Given the description of an element on the screen output the (x, y) to click on. 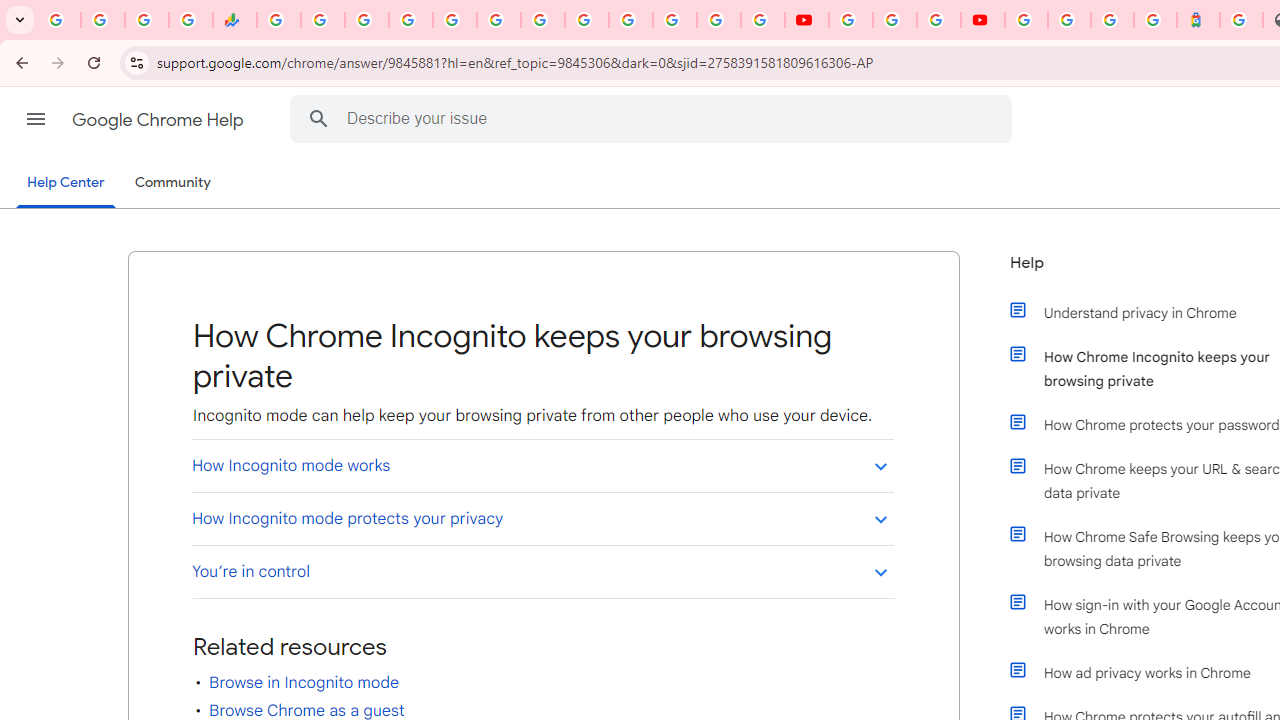
Google Account Help (894, 20)
How Incognito mode protects your privacy (542, 518)
Community (171, 183)
Android TV Policies and Guidelines - Transparency Center (542, 20)
Create your Google Account (938, 20)
YouTube (586, 20)
How Incognito mode works (542, 465)
Atour Hotel - Google hotels (1197, 20)
Google Chrome Help (159, 119)
